Given the description of an element on the screen output the (x, y) to click on. 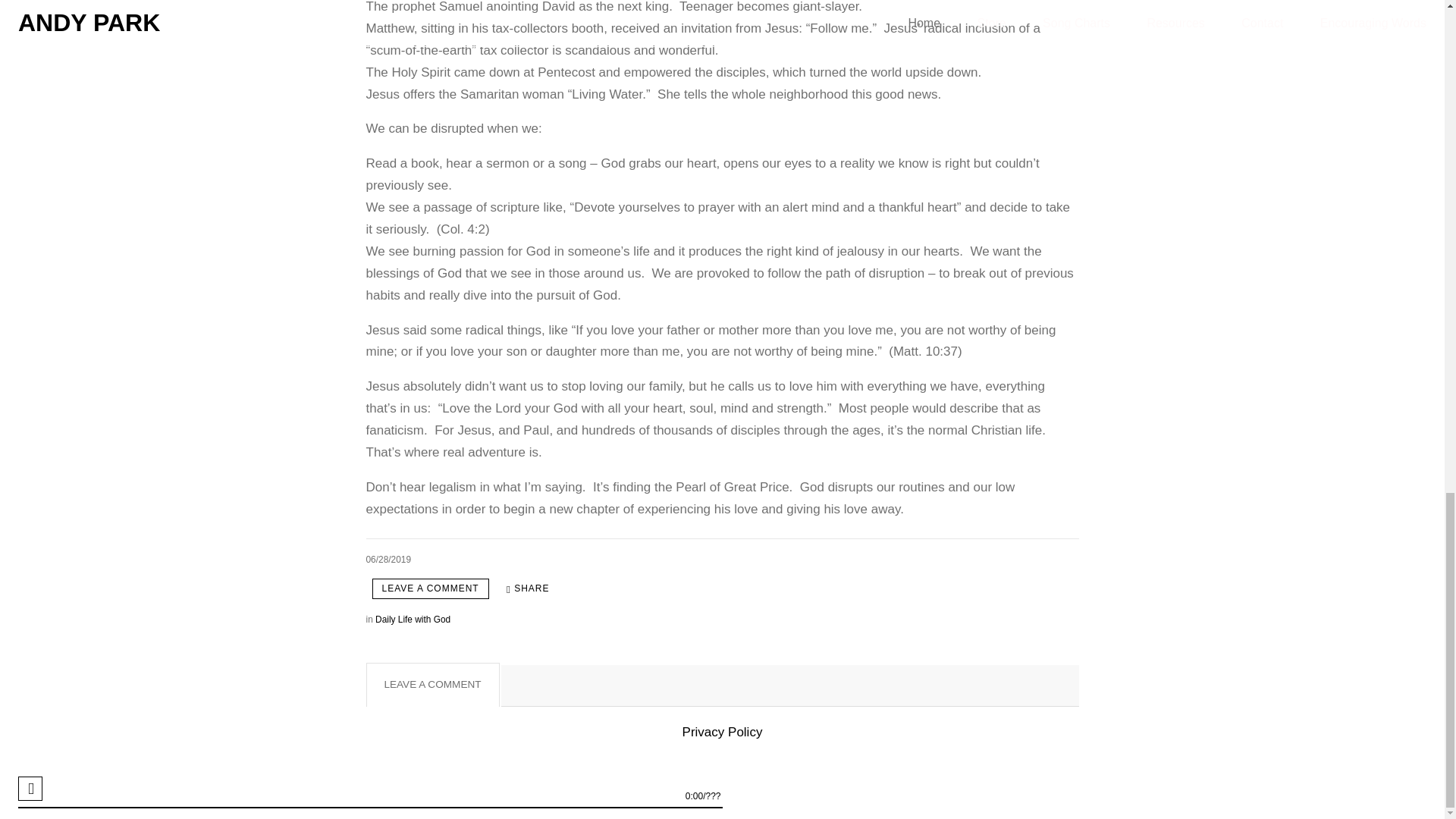
Share Holy Disruption (528, 588)
Privacy Policy (722, 731)
Leave a comment (429, 588)
SHARE (528, 588)
June 28, 2019 11:35 (387, 559)
LEAVE A COMMENT (429, 588)
Daily Life with God (412, 619)
